Given the description of an element on the screen output the (x, y) to click on. 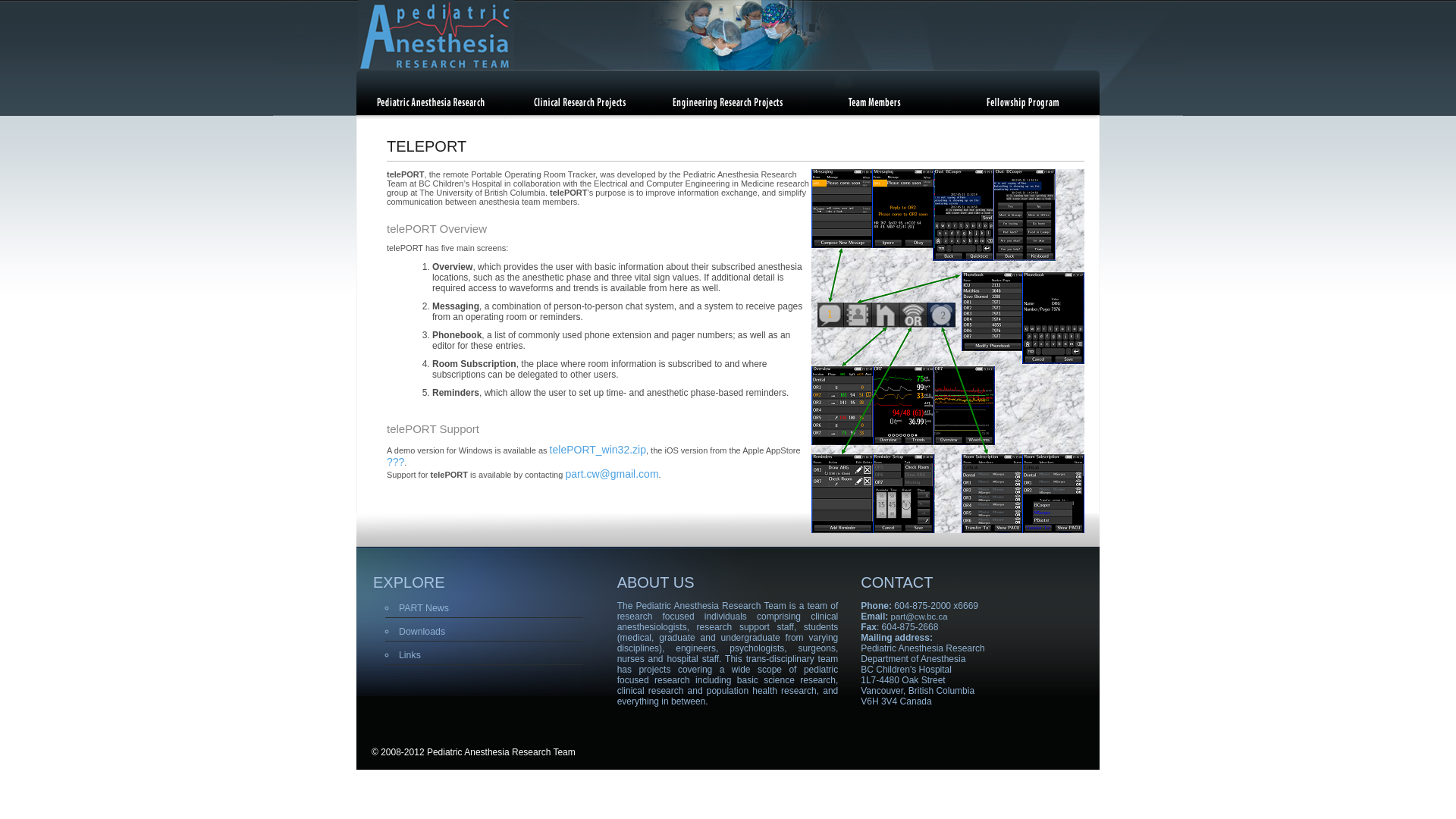
part.cw@gmail.com Element type: text (611, 473)
part@cw.bc.ca Element type: text (919, 616)
PART News Element type: text (423, 607)
Team Element type: text (873, 103)
telePORT_win32.zip Element type: text (597, 449)
engineering Element type: text (725, 103)
Downloads Element type: text (421, 631)
Fellowship Element type: text (1020, 103)
Clinical research Element type: text (577, 103)
??? Element type: text (395, 461)
PART Element type: text (429, 103)
Links Element type: text (409, 654)
